Given the description of an element on the screen output the (x, y) to click on. 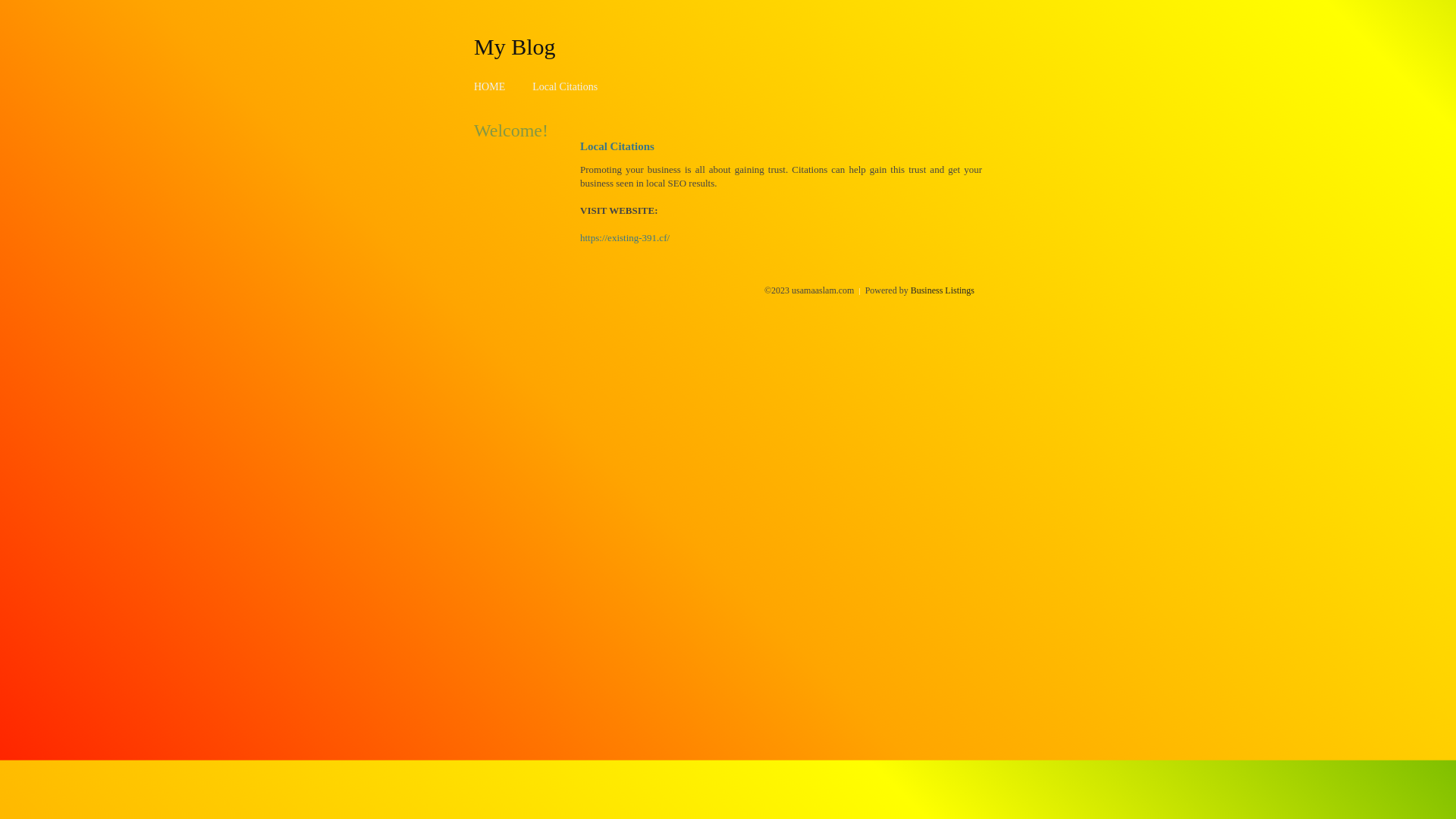
https://existing-391.cf/ Element type: text (624, 237)
Business Listings Element type: text (942, 290)
Local Citations Element type: text (564, 86)
My Blog Element type: text (514, 46)
HOME Element type: text (489, 86)
